Given the description of an element on the screen output the (x, y) to click on. 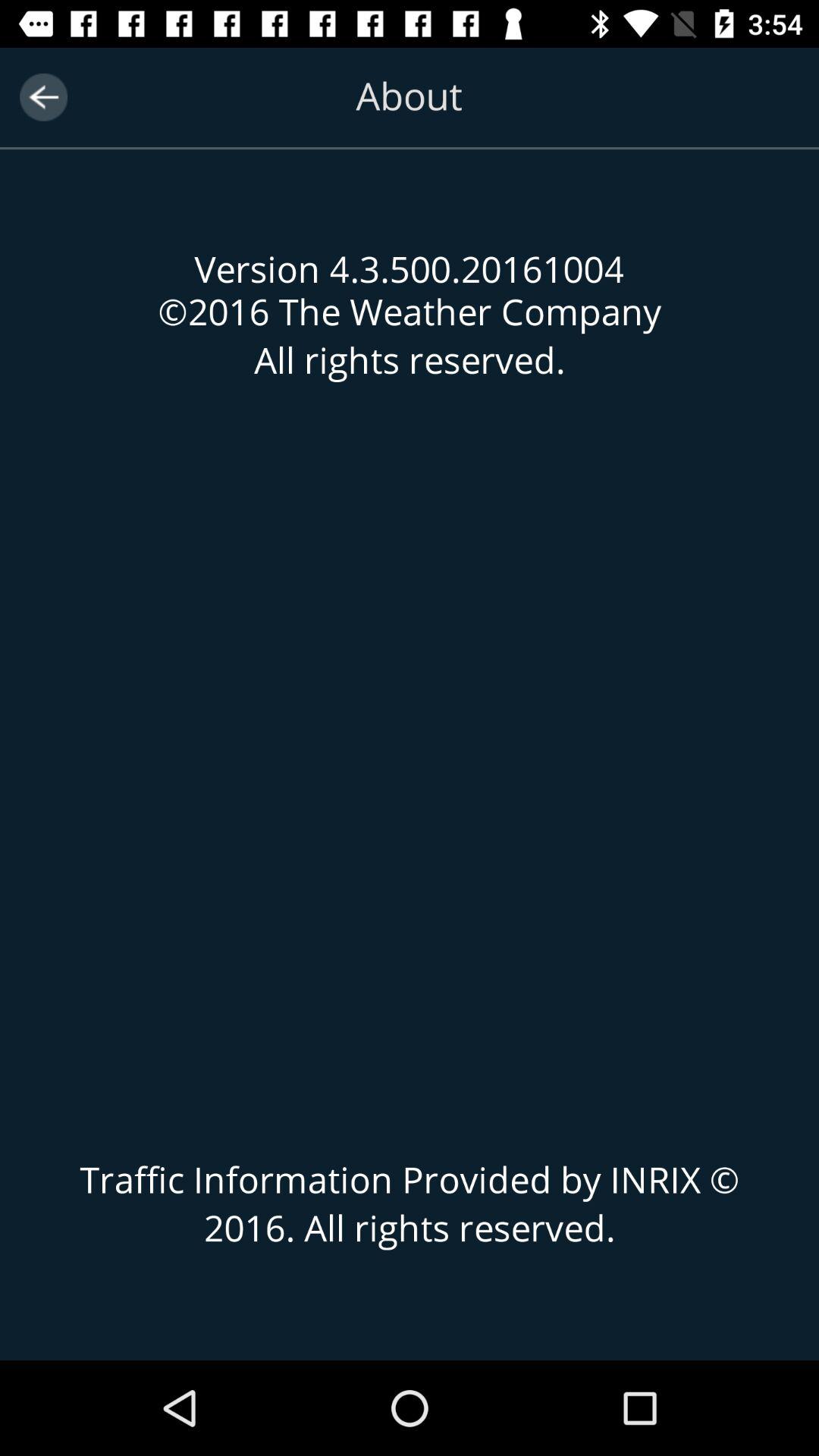
click on the icon arrow marking (43, 97)
